Given the description of an element on the screen output the (x, y) to click on. 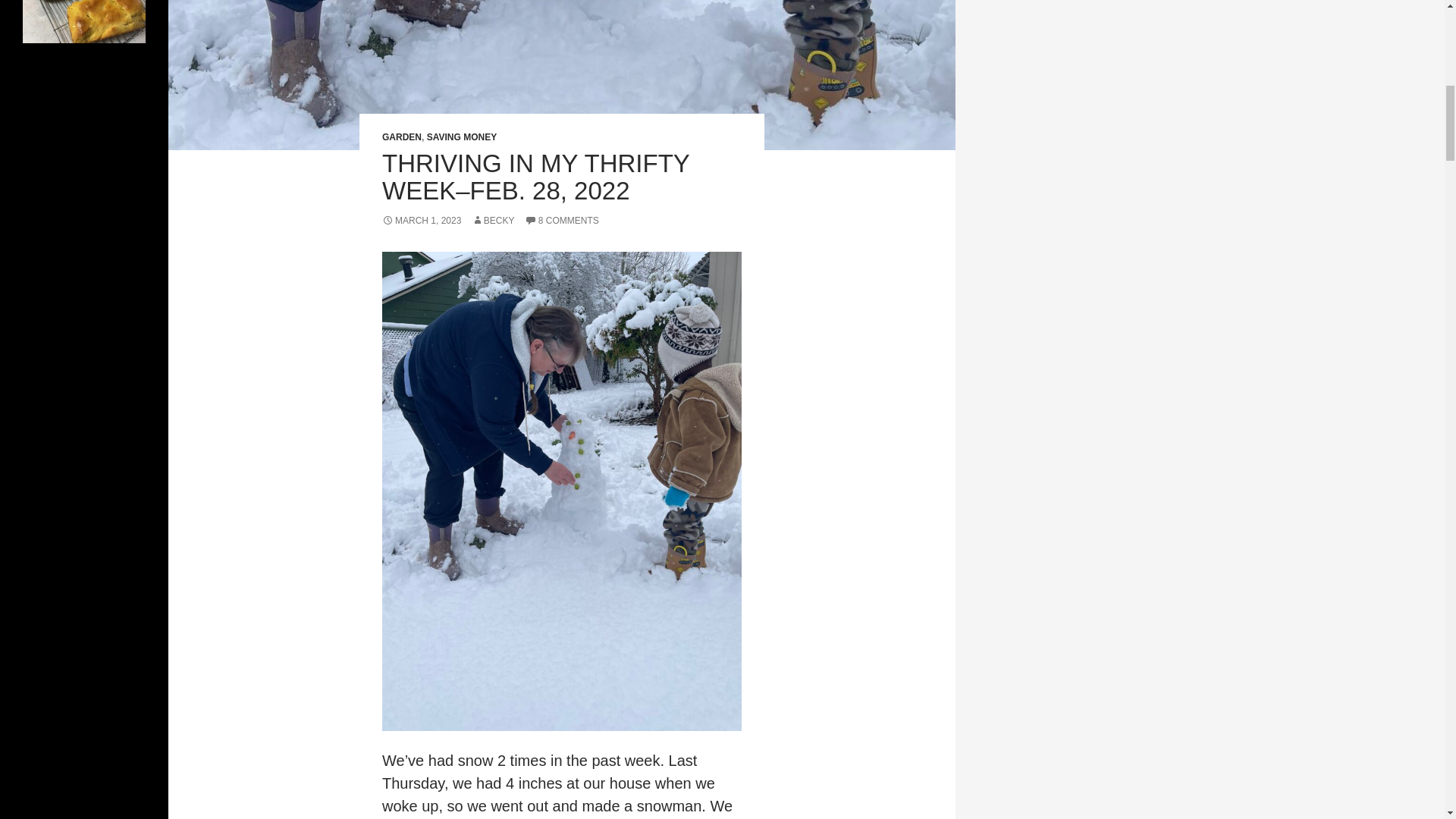
GARDEN (401, 136)
SAVING MONEY (461, 136)
8 COMMENTS (561, 220)
MARCH 1, 2023 (421, 220)
BECKY (493, 220)
